Given the description of an element on the screen output the (x, y) to click on. 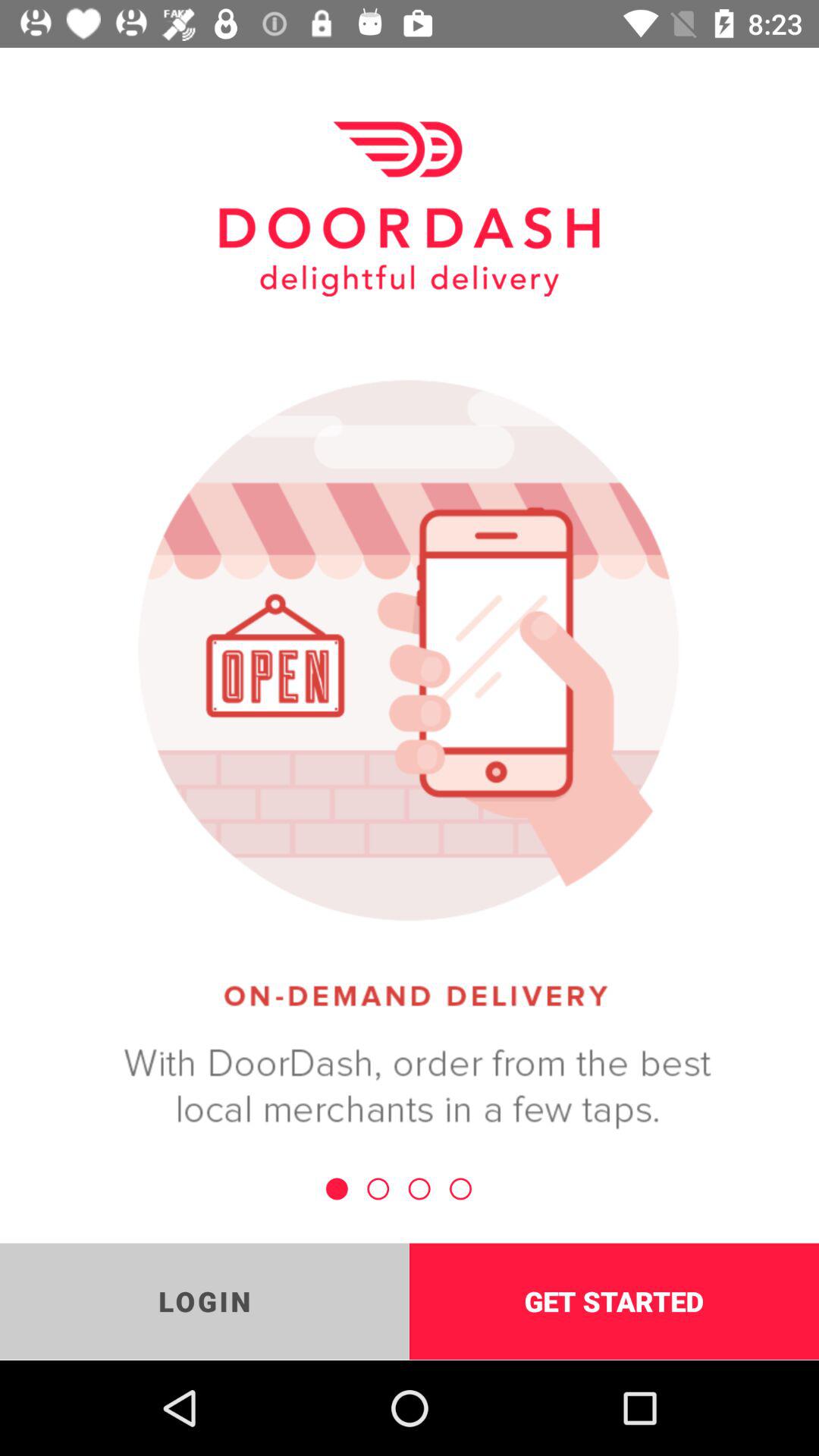
click item next to get started (204, 1301)
